Given the description of an element on the screen output the (x, y) to click on. 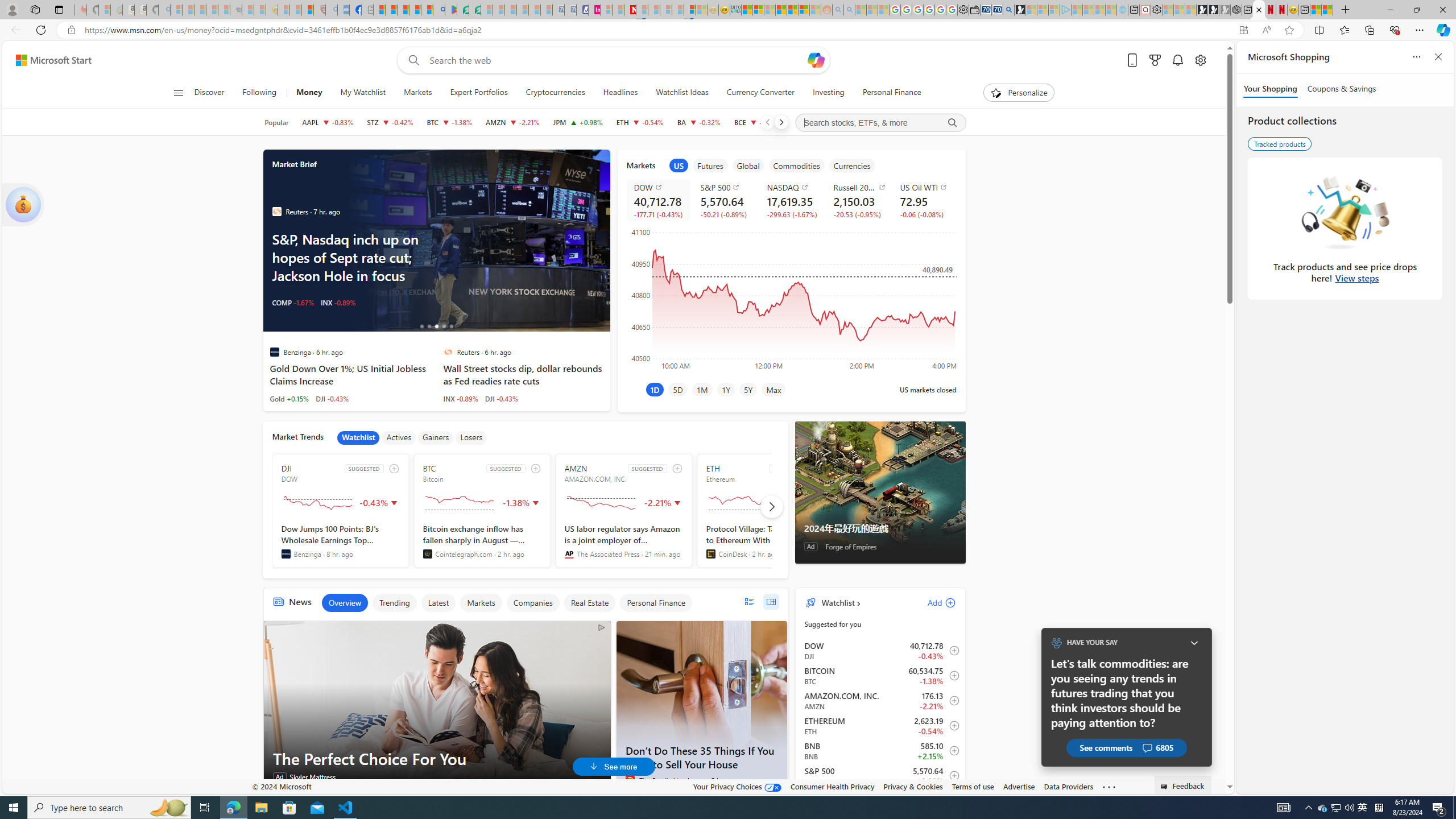
Currency Converter (760, 92)
5Y (747, 389)
Expert Portfolios (478, 92)
Wallet (974, 9)
Expert Portfolios (781, 9)
Bluey: Let's Play! - Apps on Google Play (450, 9)
Class: feedback_link_icon-DS-EntryPoint1-1 (1165, 786)
AdChoices (601, 626)
Cryptocurrencies (555, 92)
AAPL APPLE INC. decrease 224.53 -1.87 -0.83% (328, 122)
DJI SUGGESTED DOW (340, 510)
The Perfect Choice For You (436, 758)
